Given the description of an element on the screen output the (x, y) to click on. 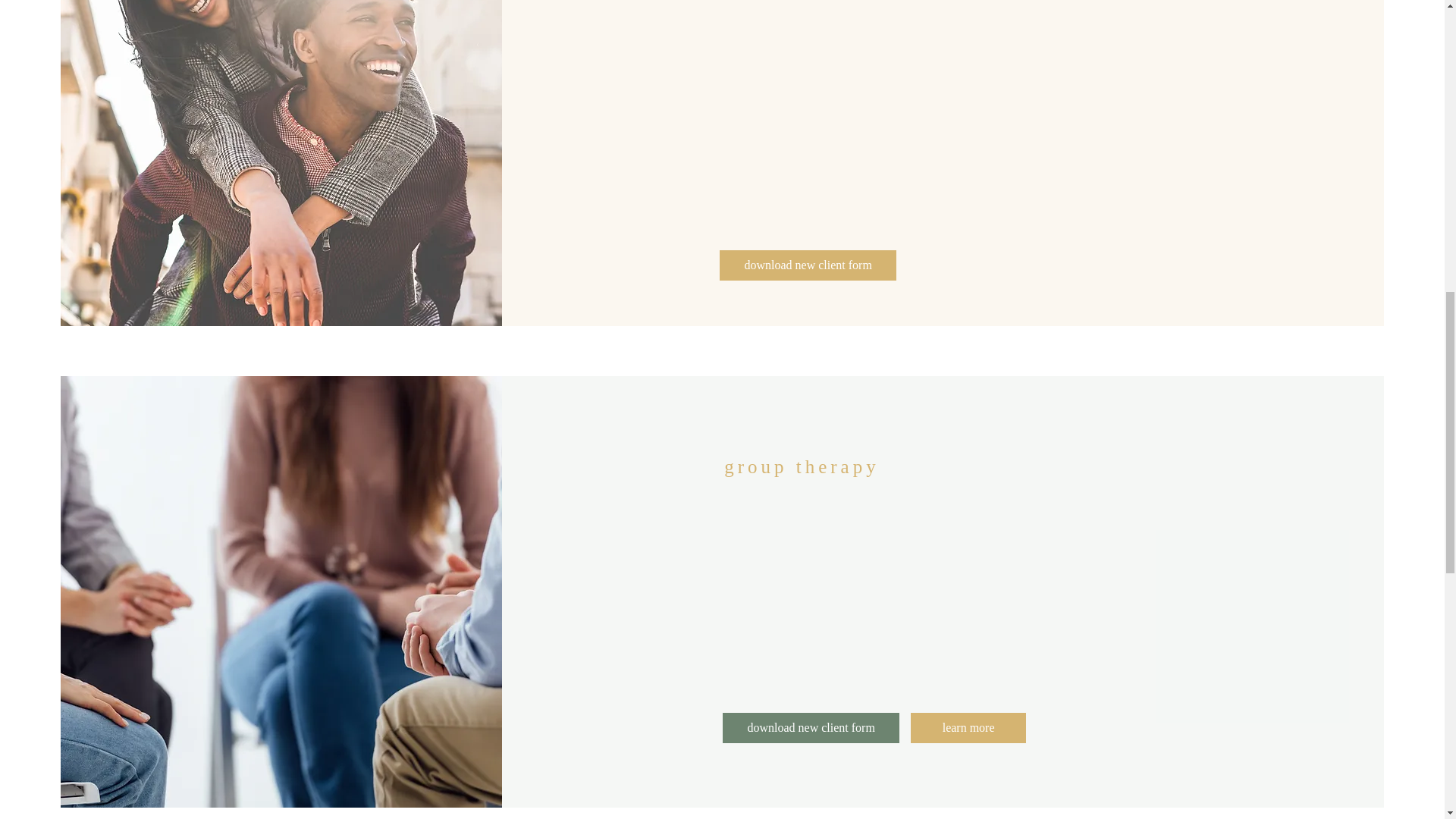
download new client form (810, 727)
learn more (968, 727)
download new client form (807, 265)
